Given the description of an element on the screen output the (x, y) to click on. 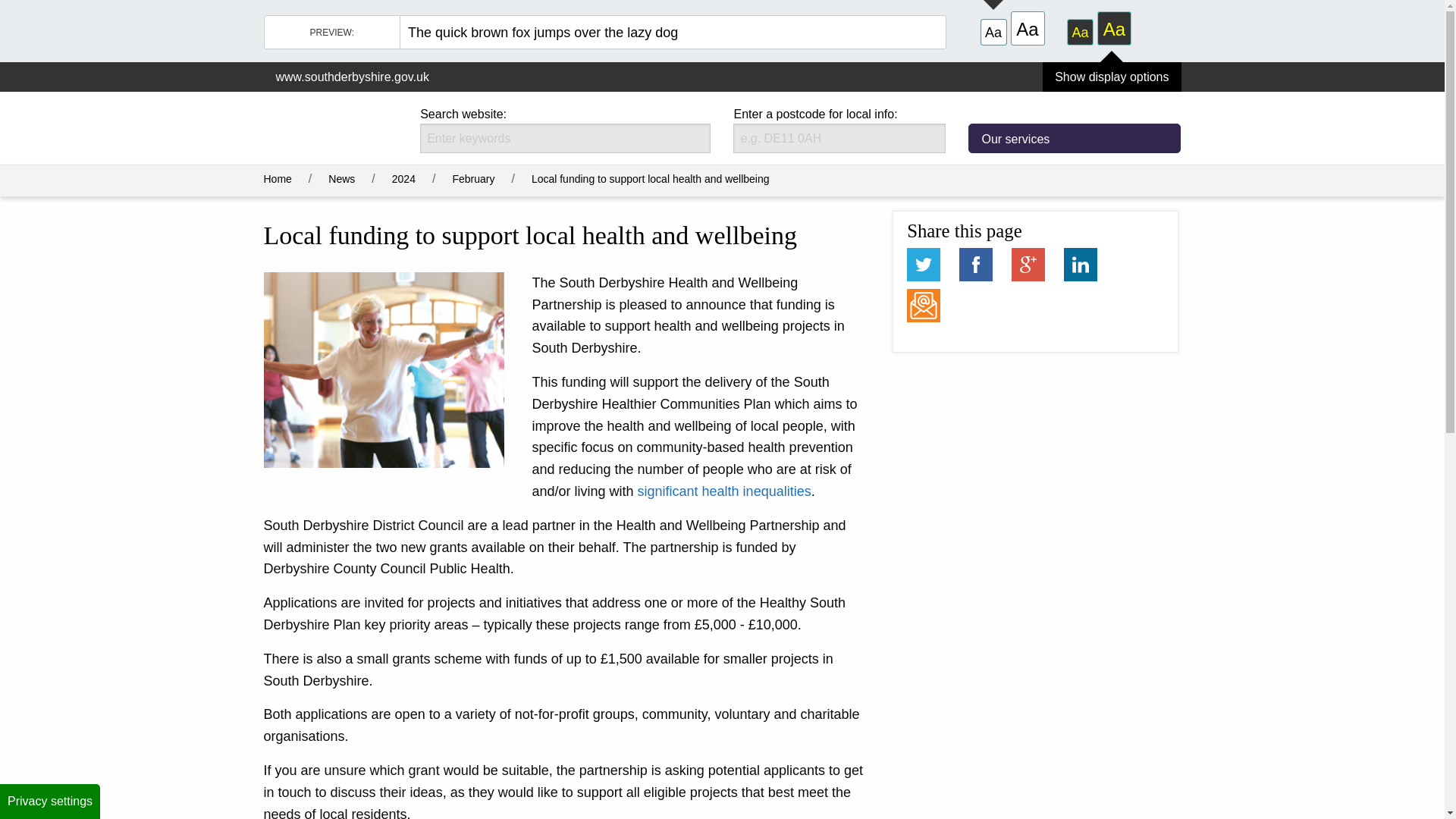
Share on Twitter (923, 264)
e.g. bin collection date (565, 138)
Share this with facebook (975, 264)
Viewing this page (650, 178)
Review your choices regarding cookies on this web site (50, 801)
2024 (402, 178)
Share on Facebook (1074, 138)
Show display options (975, 264)
February (1111, 76)
